Given the description of an element on the screen output the (x, y) to click on. 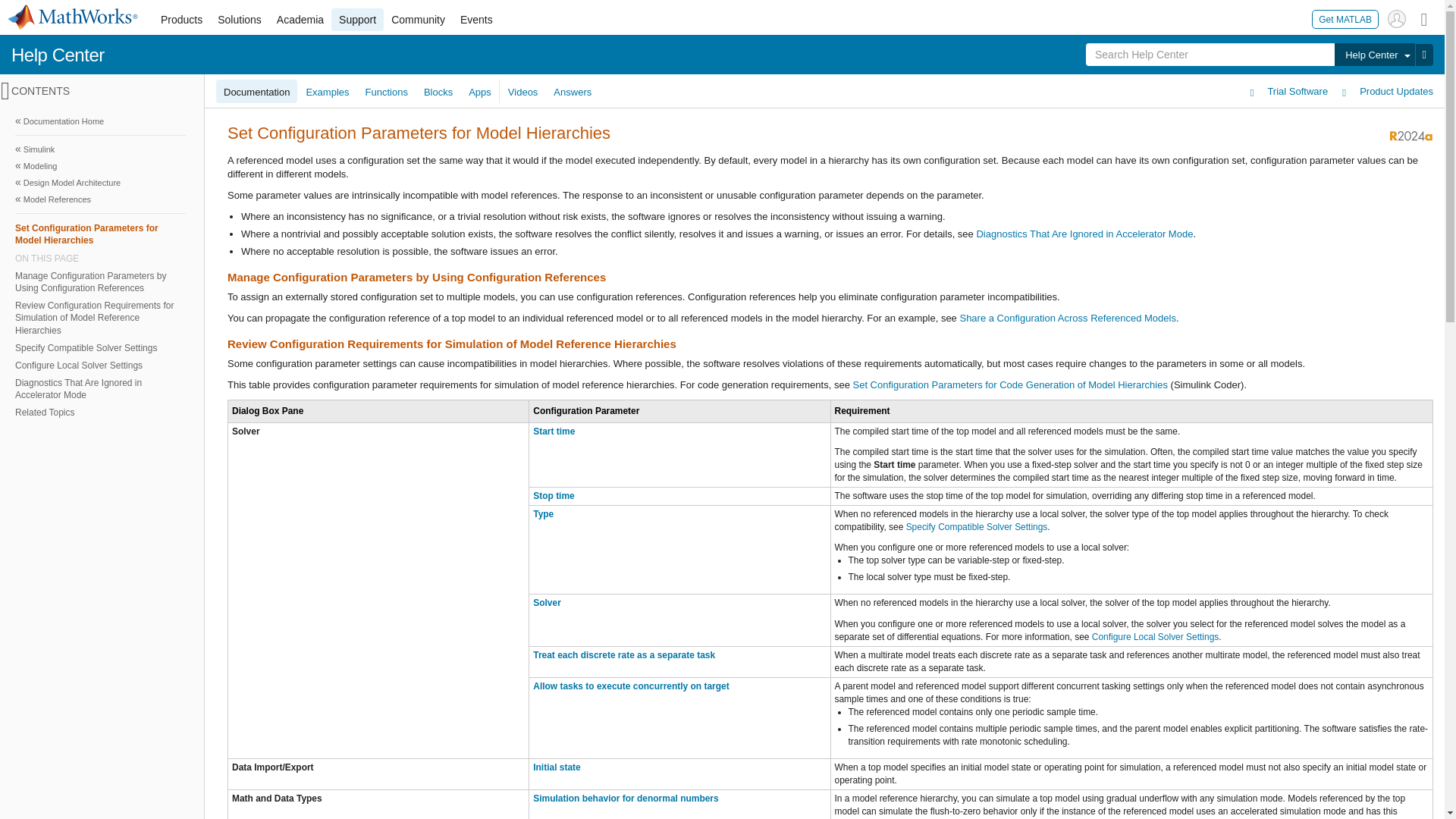
Community (418, 19)
Get MATLAB (1344, 18)
Sign In to Your MathWorks Account (1396, 18)
Matrix Menu (1423, 18)
Products (180, 19)
ON THIS PAGE (100, 258)
Support (357, 19)
Events (476, 19)
Solutions (239, 19)
Academia (300, 19)
